Given the description of an element on the screen output the (x, y) to click on. 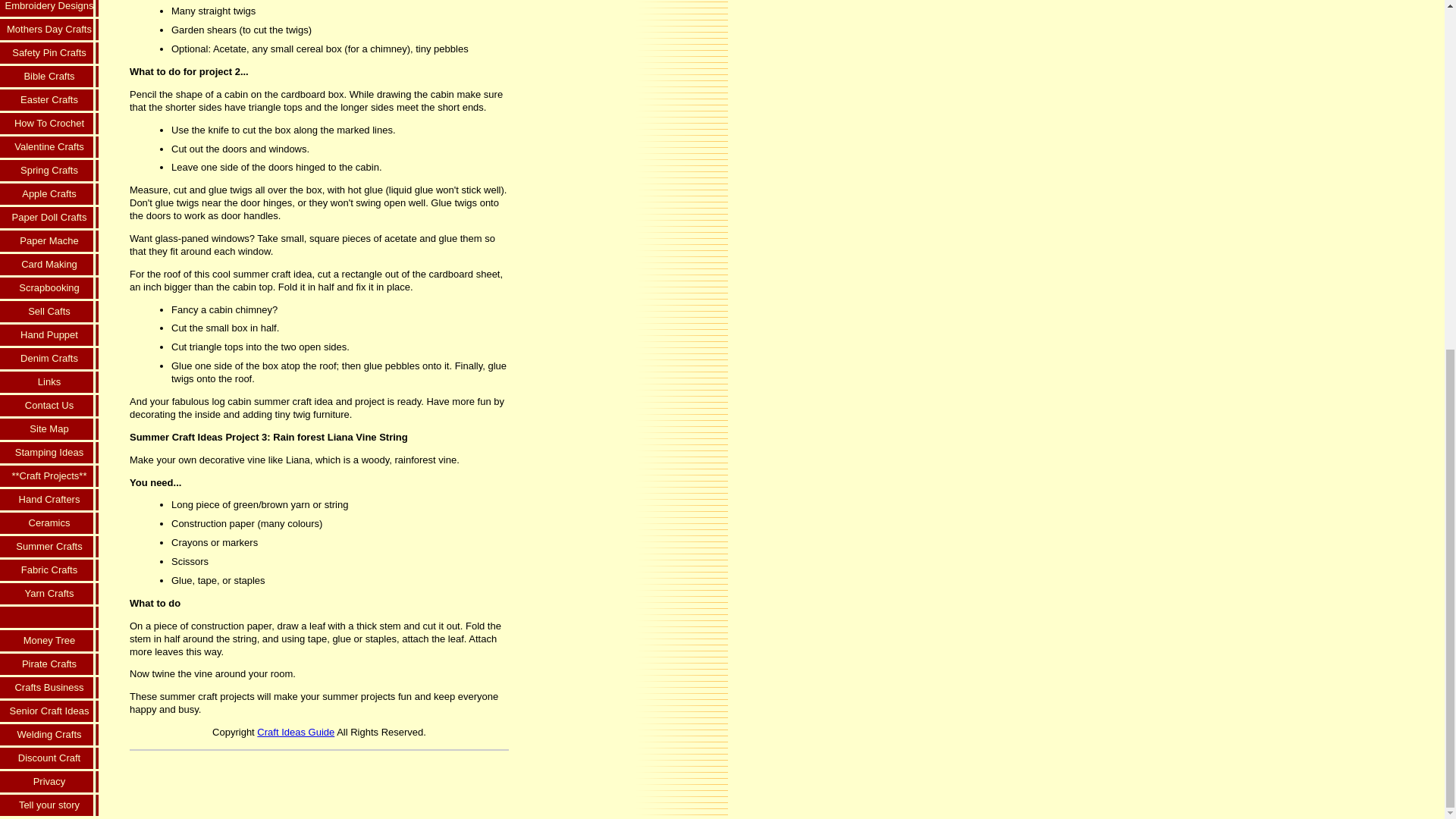
Paper Mache (49, 241)
Apple Crafts (49, 195)
Sell Cafts (49, 312)
Hand Puppet (49, 336)
Bible Crafts (49, 77)
How To Crochet (49, 124)
Contact Us (49, 406)
Embroidery Designs (49, 9)
Links (49, 382)
Safety Pin Crafts (49, 54)
